Given the description of an element on the screen output the (x, y) to click on. 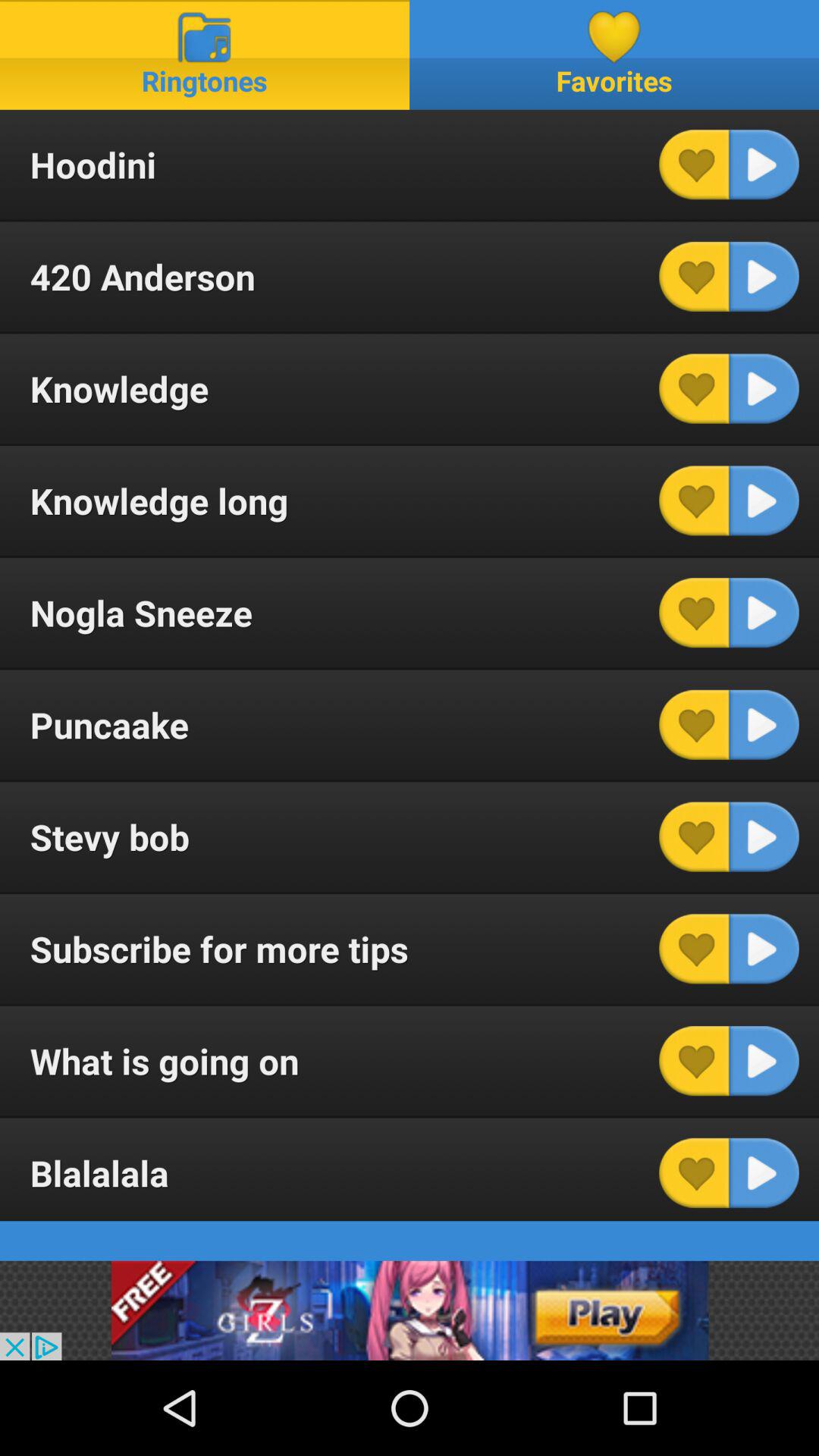
heart this track (694, 164)
